Given the description of an element on the screen output the (x, y) to click on. 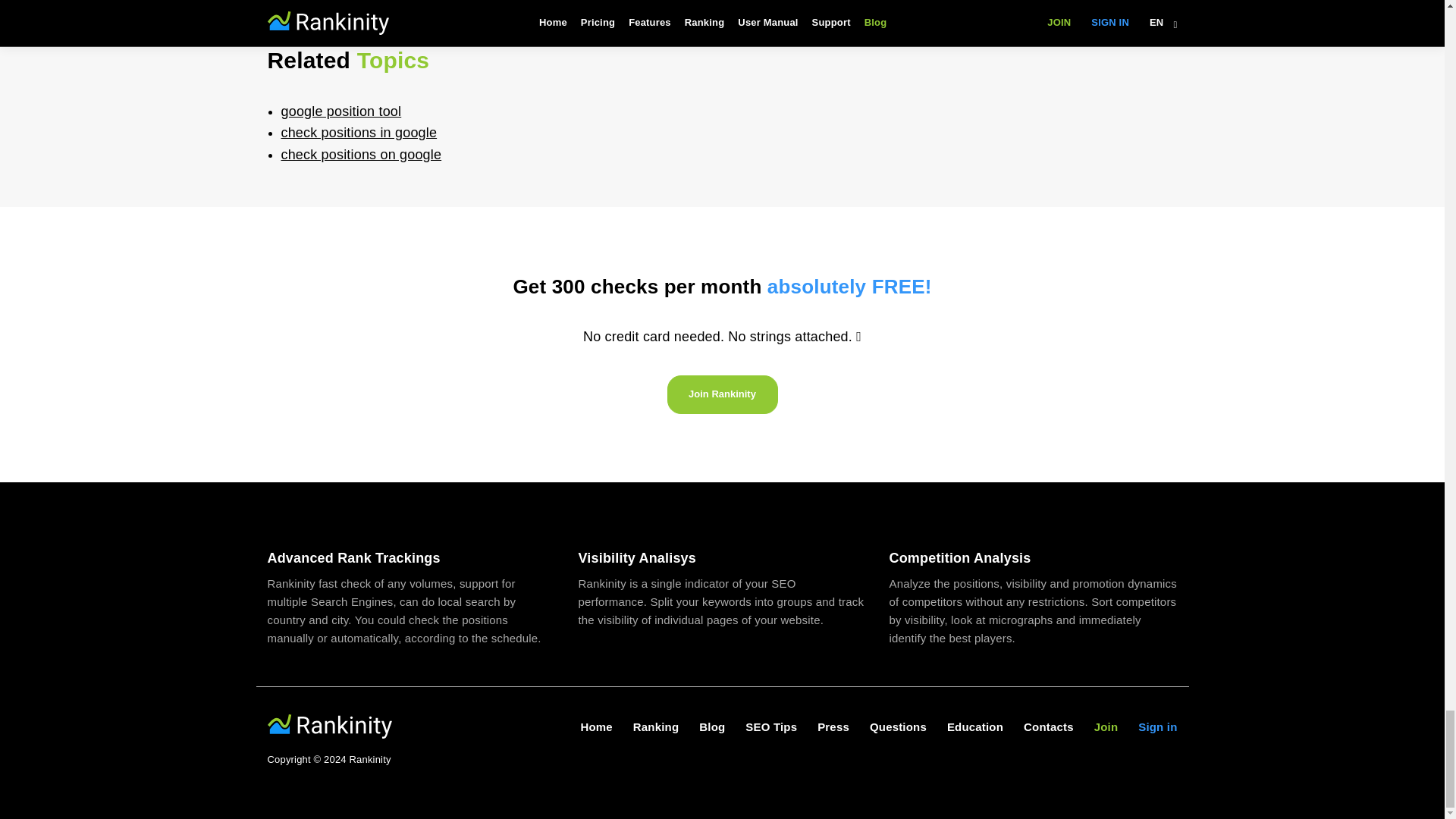
check positions in google (358, 132)
SEO Tips (770, 727)
Blog (711, 727)
Press (832, 727)
Home (595, 727)
Education (975, 727)
Press (832, 727)
Home (595, 727)
Ranking (655, 727)
google position tool (341, 111)
Contacts (1048, 727)
Questions (897, 727)
check positions on google (361, 154)
SEO Tips (770, 727)
Join Rankinity (721, 394)
